Given the description of an element on the screen output the (x, y) to click on. 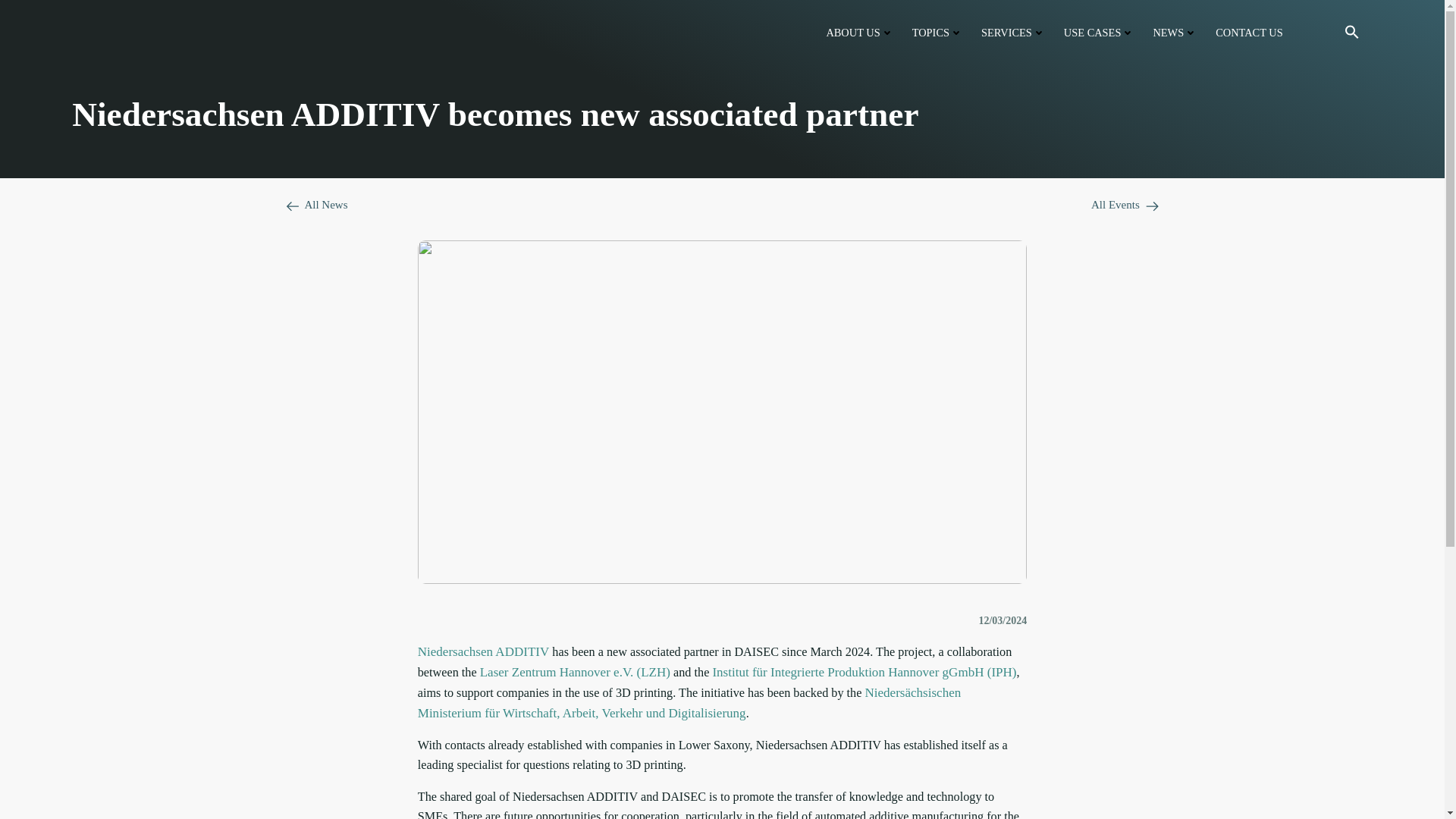
ABOUT US (859, 32)
SERVICES (1013, 32)
NEWS (1174, 32)
TOPICS (937, 32)
CONTACT US (1248, 32)
USE CASES (1099, 32)
